Given the description of an element on the screen output the (x, y) to click on. 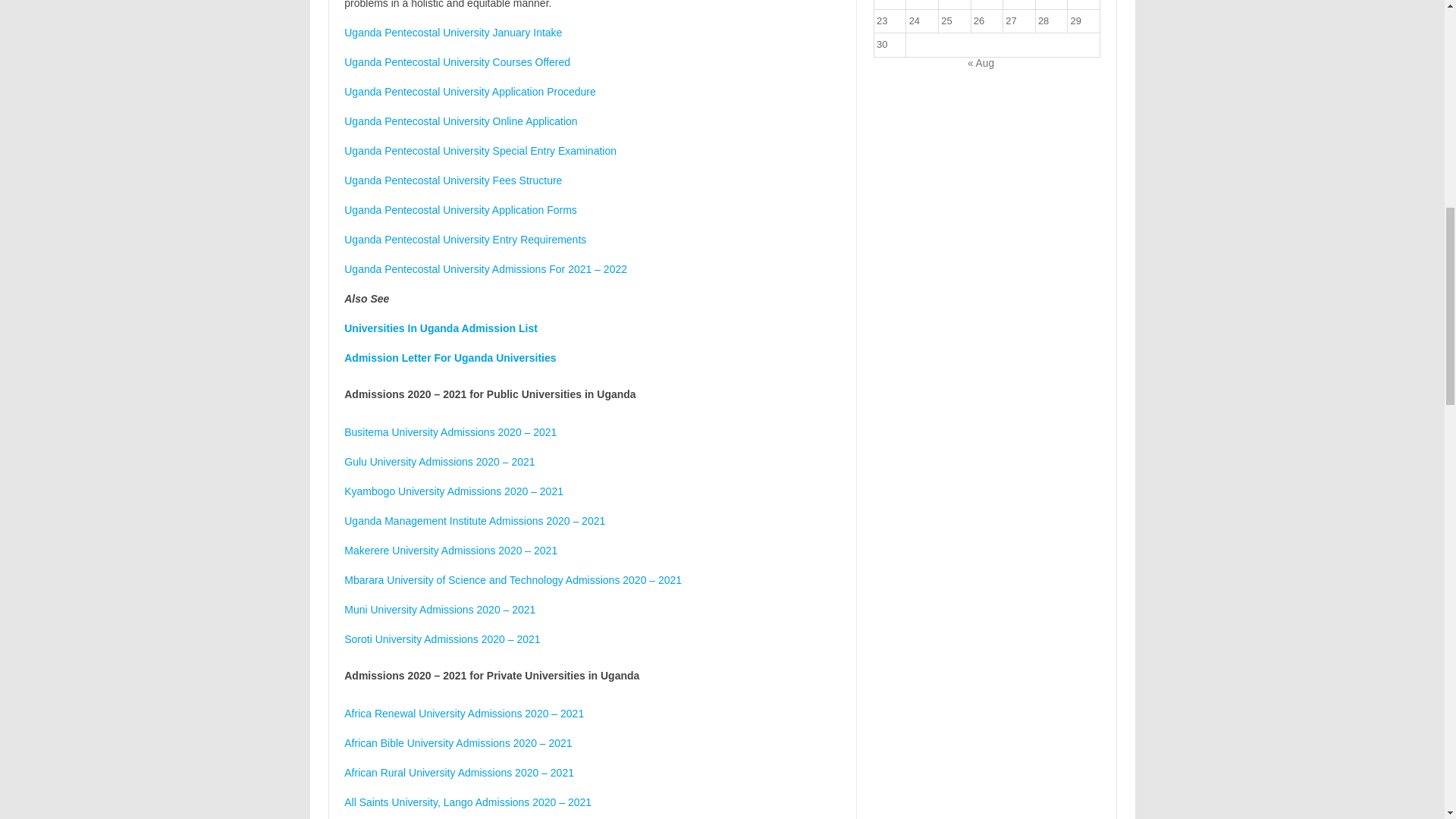
Uganda Pentecostal University Fees Structure (452, 180)
Uganda Pentecostal University Online Application (459, 121)
Uganda Pentecostal University January Intake (452, 32)
Admission Letter For Uganda Universities (449, 357)
Uganda Pentecostal University Entry Requirements (464, 239)
Uganda Pentecostal University Courses Offered (456, 61)
Universities In Uganda Admission List (440, 328)
Uganda Pentecostal University Application Procedure (469, 91)
Uganda Pentecostal University Special Entry Examination (479, 150)
Uganda Pentecostal University Application Forms (459, 209)
